Given the description of an element on the screen output the (x, y) to click on. 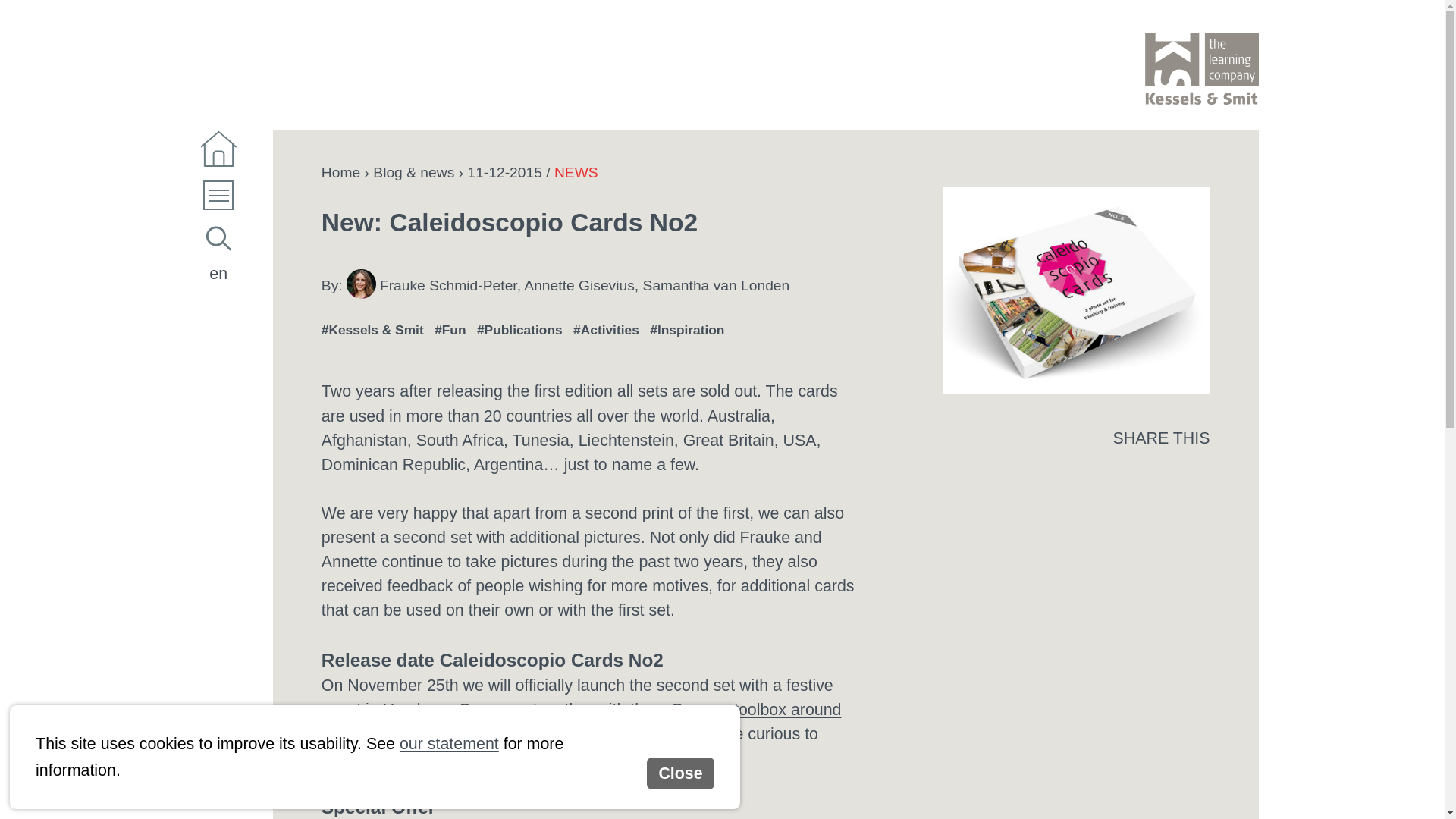
Search (217, 238)
Home (340, 172)
Home (217, 148)
Menu (217, 199)
toolbox around innovation, Innovationen im Hier und Jetzt. (581, 721)
Frauke Schmid-Peter (448, 284)
Annette Gisevius (579, 284)
Samantha van Londen (716, 284)
